Given the description of an element on the screen output the (x, y) to click on. 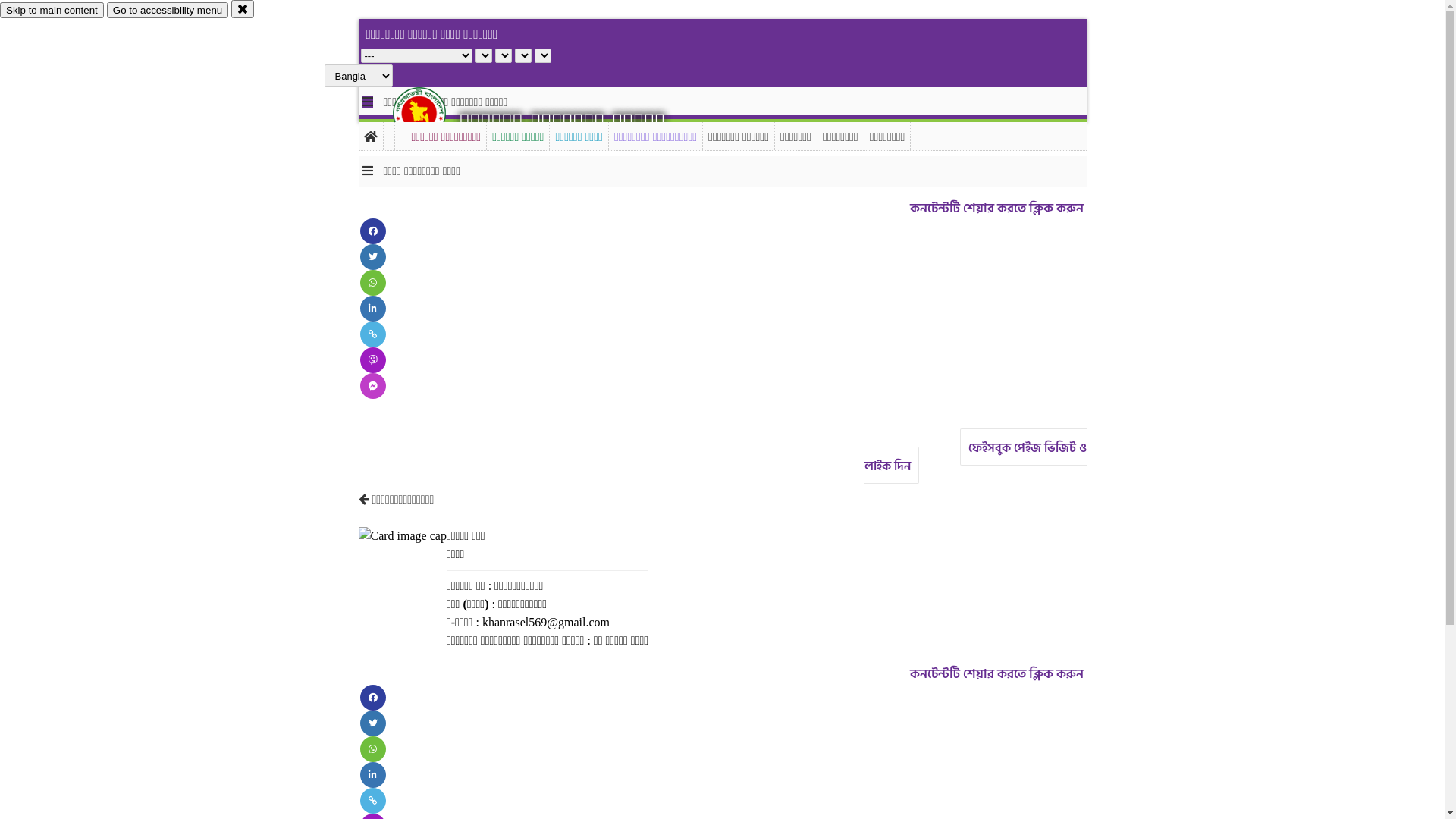
close Element type: hover (242, 9)
Skip to main content Element type: text (51, 10)

                
             Element type: hover (431, 112)
Go to accessibility menu Element type: text (167, 10)
